Given the description of an element on the screen output the (x, y) to click on. 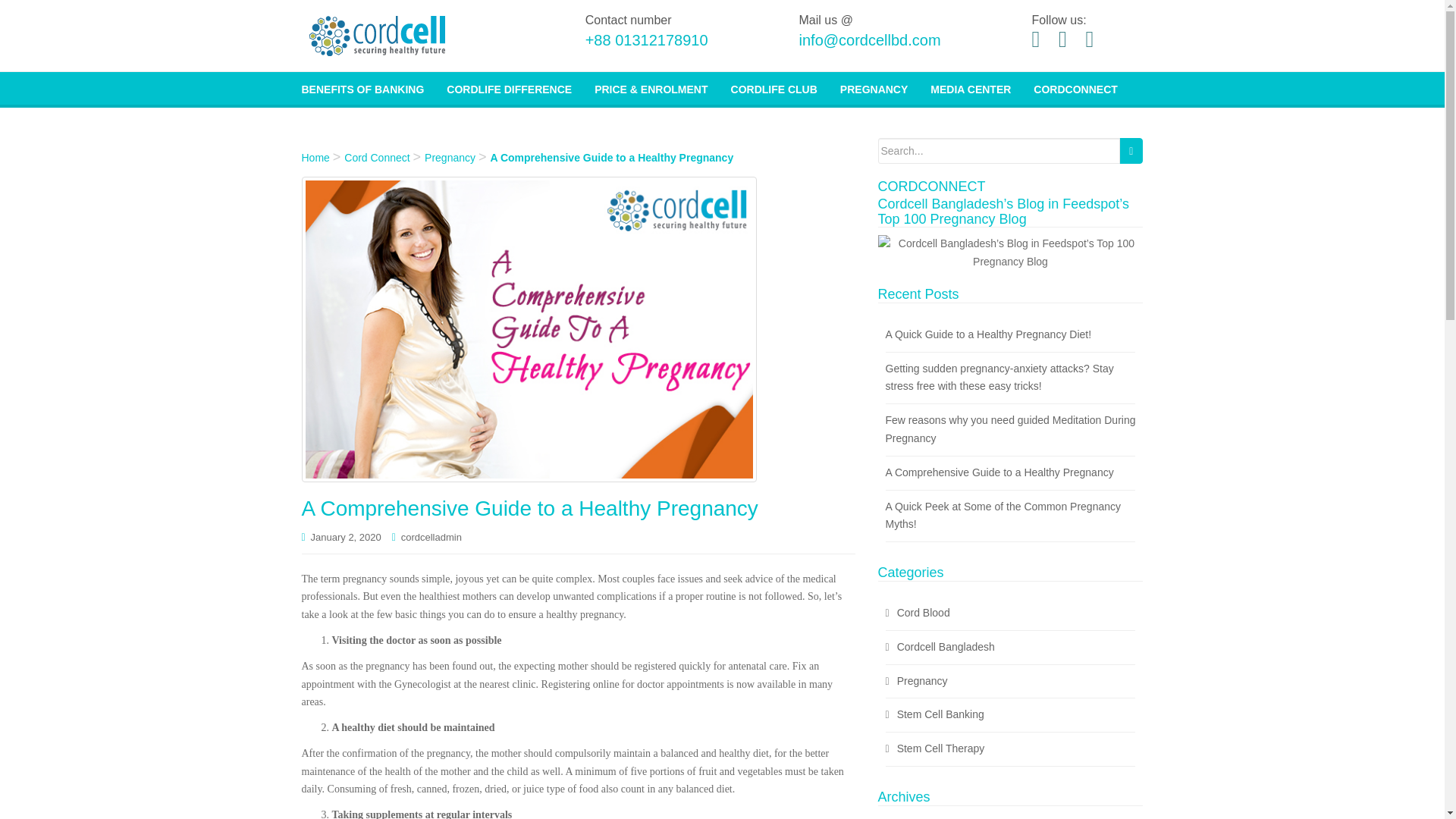
Cordlife Difference (509, 88)
CORDLIFE CLUB (773, 88)
A Quick Guide to a Healthy Pregnancy Diet! (988, 334)
Stem Cell Banking (940, 714)
PREGNANCY (873, 88)
CORDCONNECT (1075, 88)
MEDIA CENTER (970, 88)
cordcelladmin (431, 536)
Pregnancy (921, 680)
Cordcell Bangladesh (945, 646)
Cord Connect (376, 157)
Cord Blood (923, 612)
Benefits of Banking (362, 88)
Pregnancy (873, 88)
A Comprehensive Guide to a Healthy Pregnancy (999, 472)
